Given the description of an element on the screen output the (x, y) to click on. 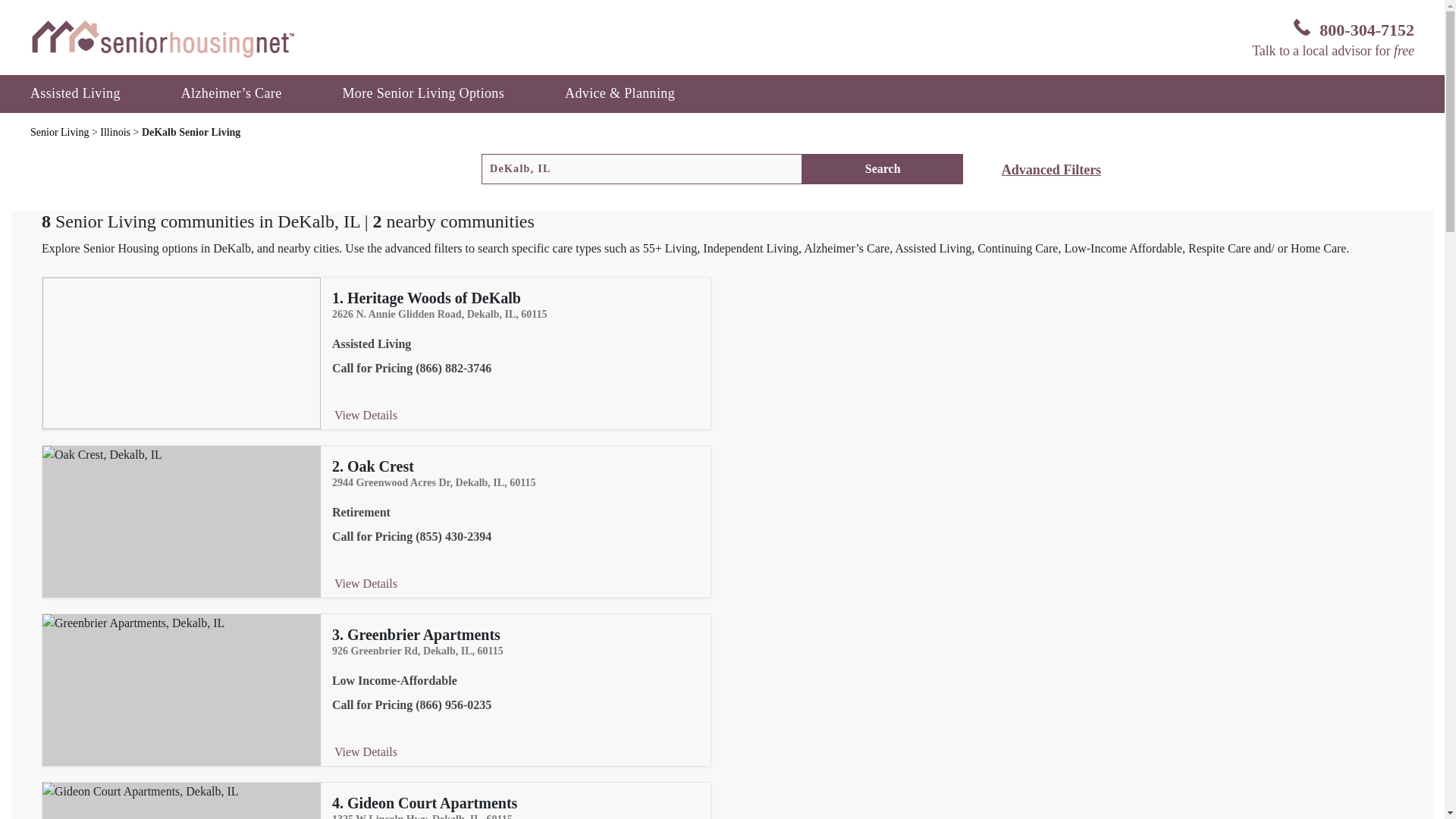
Illinois (116, 132)
2944 Greenwood Acres Dr, Dekalb, IL, 60115 (520, 481)
Senior Housing (162, 37)
More Senior Living Options (422, 92)
Assisted Living (75, 92)
Oak Crest (380, 466)
926 Greenbrier Rd, Dekalb, IL, 60115 (520, 650)
View Details (364, 752)
View Details (364, 415)
Heritage Woods of DeKalb (434, 297)
